Given the description of an element on the screen output the (x, y) to click on. 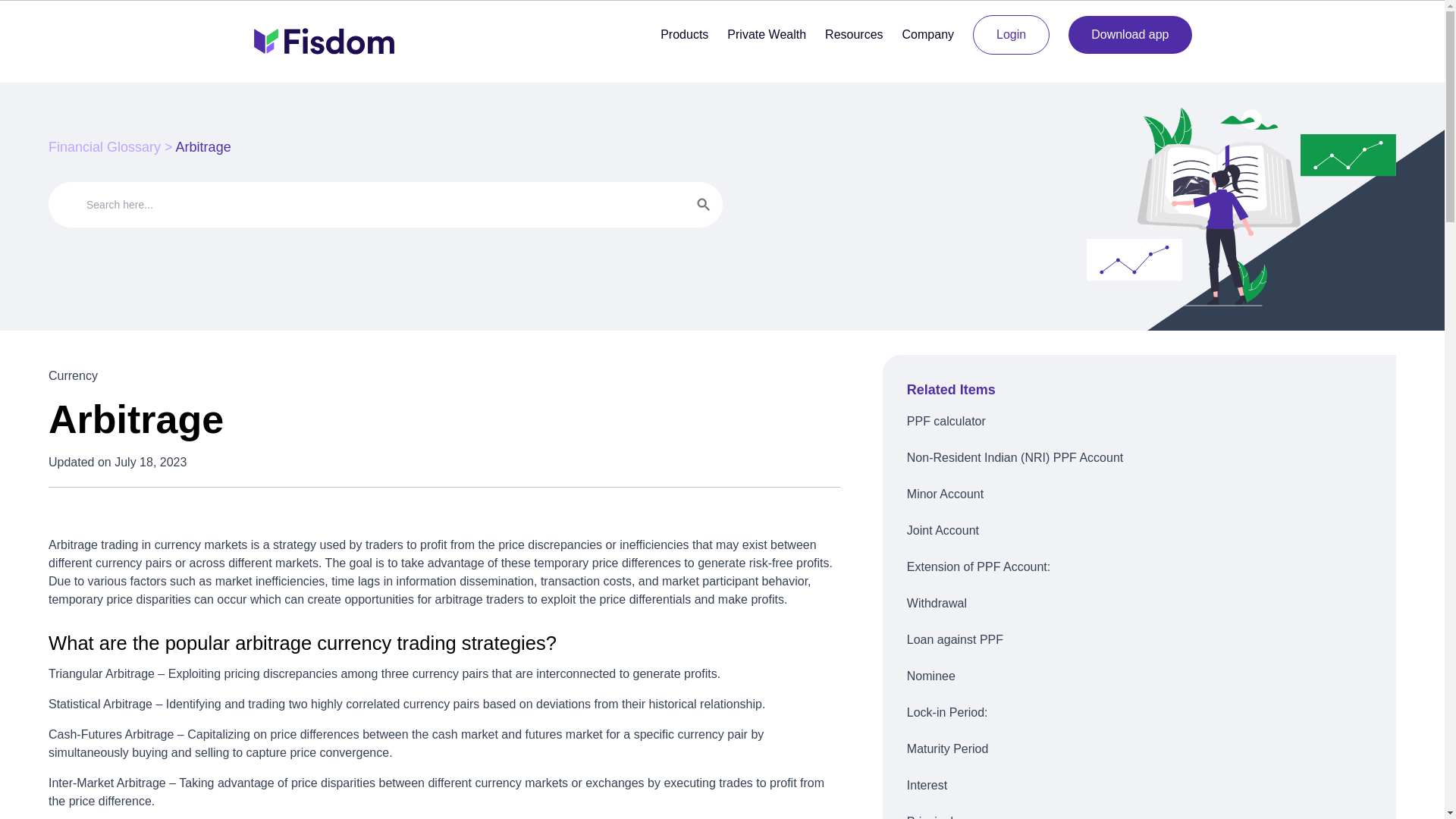
Financial Glossary (104, 147)
Interest (1139, 785)
Download app (1129, 34)
Private Wealth (766, 33)
Minor Account (1139, 494)
Login (1010, 34)
Company (927, 33)
Maturity Period (1139, 749)
PPF calculator (1139, 421)
Withdrawal (1139, 603)
Nominee (1139, 676)
Extension of PPF Account: (1139, 567)
Currency (72, 375)
Lock-in Period: (1139, 712)
Resources (853, 33)
